Given the description of an element on the screen output the (x, y) to click on. 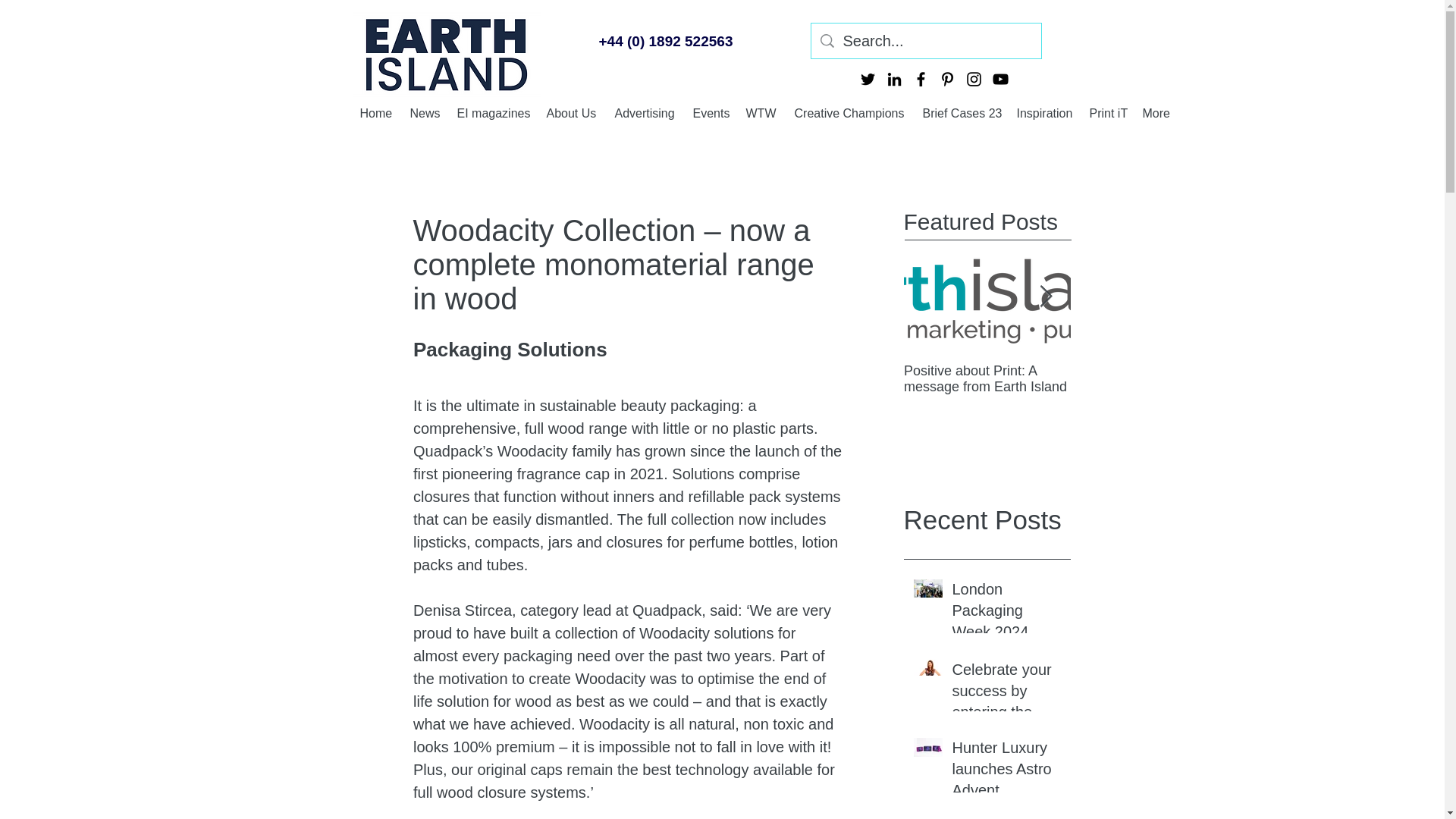
Brief Cases 23 (961, 112)
EI magazines (493, 112)
WTW (762, 112)
London Packaging Week 2024 coming soon (1006, 613)
News (424, 112)
Positive about Print: A message from Earth Island (987, 377)
Home (376, 112)
Events (711, 112)
About Us (572, 112)
